Given the description of an element on the screen output the (x, y) to click on. 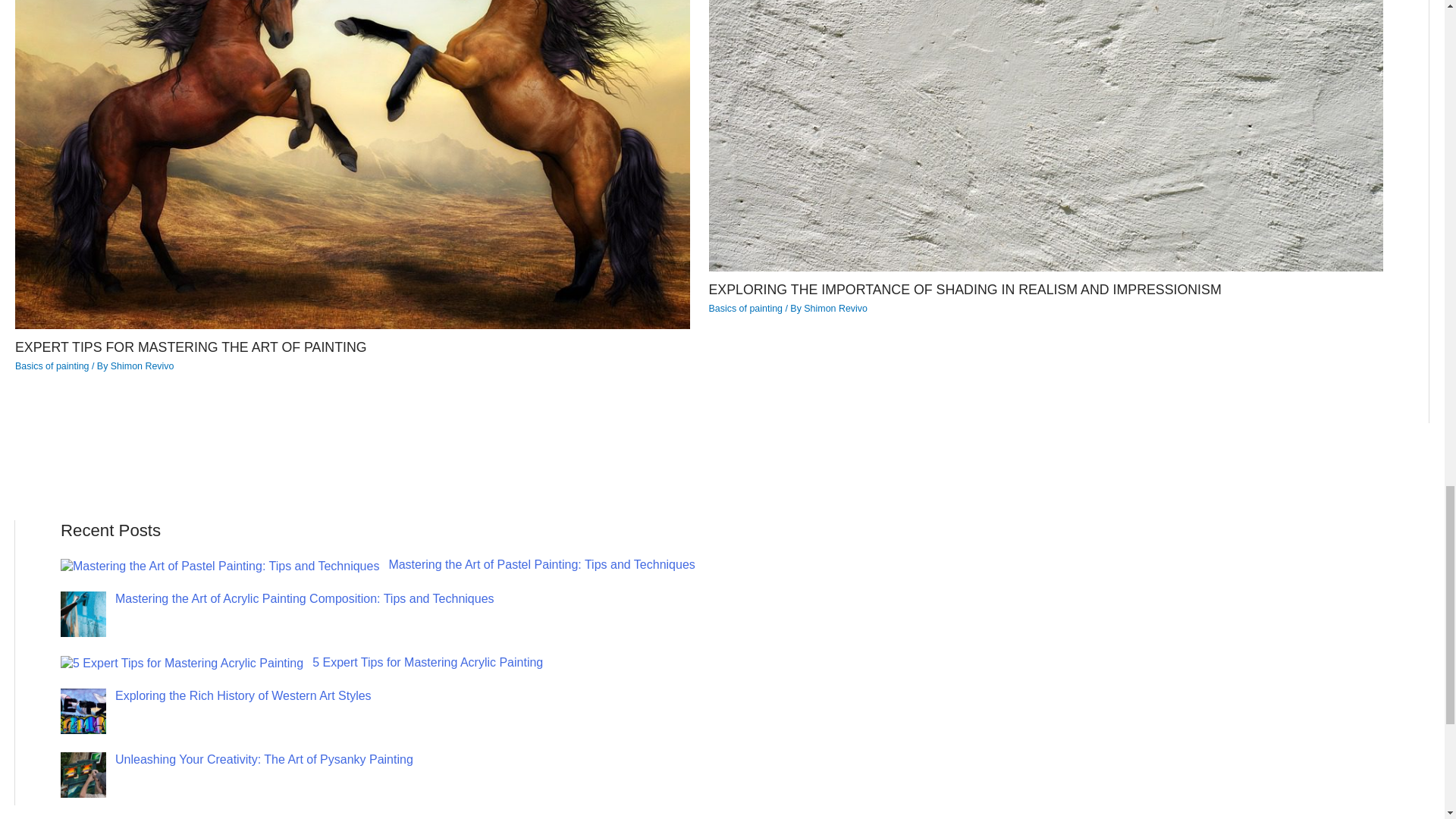
Shimon Revivo (142, 366)
Basics of painting (51, 366)
View all posts by Shimon Revivo (835, 308)
Basics of painting (744, 308)
Shimon Revivo (835, 308)
EXPERT TIPS FOR MASTERING THE ART OF PAINTING (190, 346)
View all posts by Shimon Revivo (142, 366)
